Given the description of an element on the screen output the (x, y) to click on. 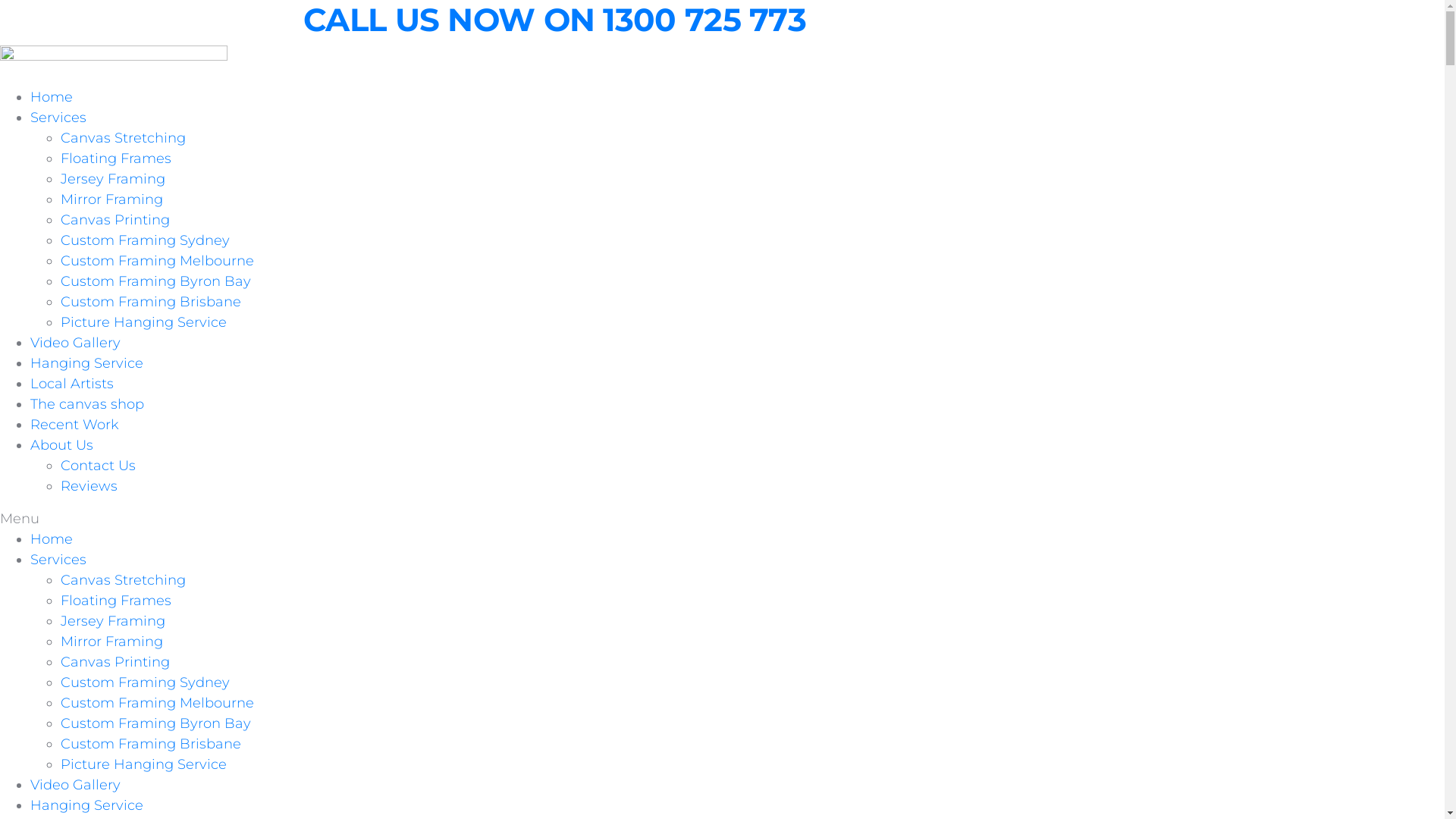
Custom Framing Melbourne Element type: text (157, 260)
Mirror Framing Element type: text (111, 641)
Canvas Stretching Element type: text (122, 137)
Custom Framing Sydney Element type: text (144, 682)
The canvas shop Element type: text (87, 403)
Custom Framing Byron Bay Element type: text (155, 281)
Canvas Printing Element type: text (114, 661)
Custom Framing Sydney Element type: text (144, 240)
Floating Frames Element type: text (115, 600)
Home Element type: text (51, 538)
Home Element type: text (51, 96)
Custom Framing Brisbane Element type: text (150, 301)
Video Gallery Element type: text (75, 784)
Custom Framing Brisbane Element type: text (150, 743)
Floating Frames Element type: text (115, 158)
Services Element type: text (58, 559)
Hanging Service Element type: text (86, 362)
Recent Work Element type: text (74, 424)
CALL US NOW ON 1300 725 773 Element type: text (554, 19)
Video Gallery Element type: text (75, 342)
Canvas Stretching Element type: text (122, 579)
Hanging Service Element type: text (86, 805)
Jersey Framing Element type: text (112, 178)
Contact Us Element type: text (97, 465)
Mirror Framing Element type: text (111, 199)
Reviews Element type: text (88, 485)
Custom Framing Melbourne Element type: text (157, 702)
Custom Framing Byron Bay Element type: text (155, 723)
Picture Hanging Service Element type: text (143, 321)
Canvas Printing Element type: text (114, 219)
Services Element type: text (58, 117)
About Us Element type: text (61, 444)
Local Artists Element type: text (71, 383)
Jersey Framing Element type: text (112, 620)
Picture Hanging Service Element type: text (143, 764)
